Given the description of an element on the screen output the (x, y) to click on. 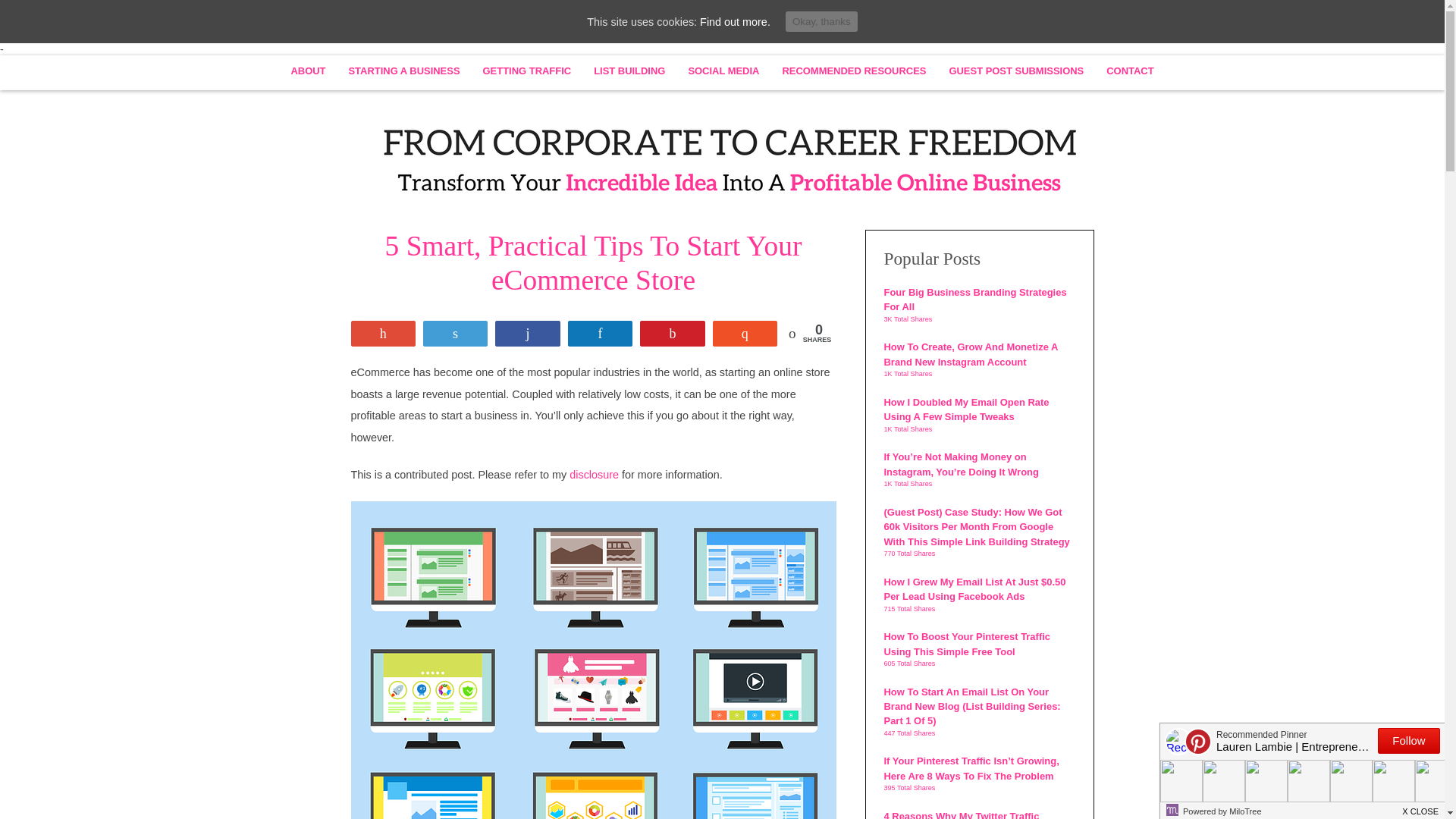
CONTACT (1129, 71)
RECOMMENDED RESOURCES (853, 71)
disclosure (593, 474)
ABOUT (307, 71)
GETTING TRAFFIC (527, 71)
STARTING A BUSINESS (403, 71)
LIST BUILDING (629, 71)
5 Smart, Practical Tips To Start Your eCommerce Store (593, 262)
From Corporate To Career Freedom (721, 157)
SOCIAL MEDIA (723, 71)
GUEST POST SUBMISSIONS (1015, 71)
